Given the description of an element on the screen output the (x, y) to click on. 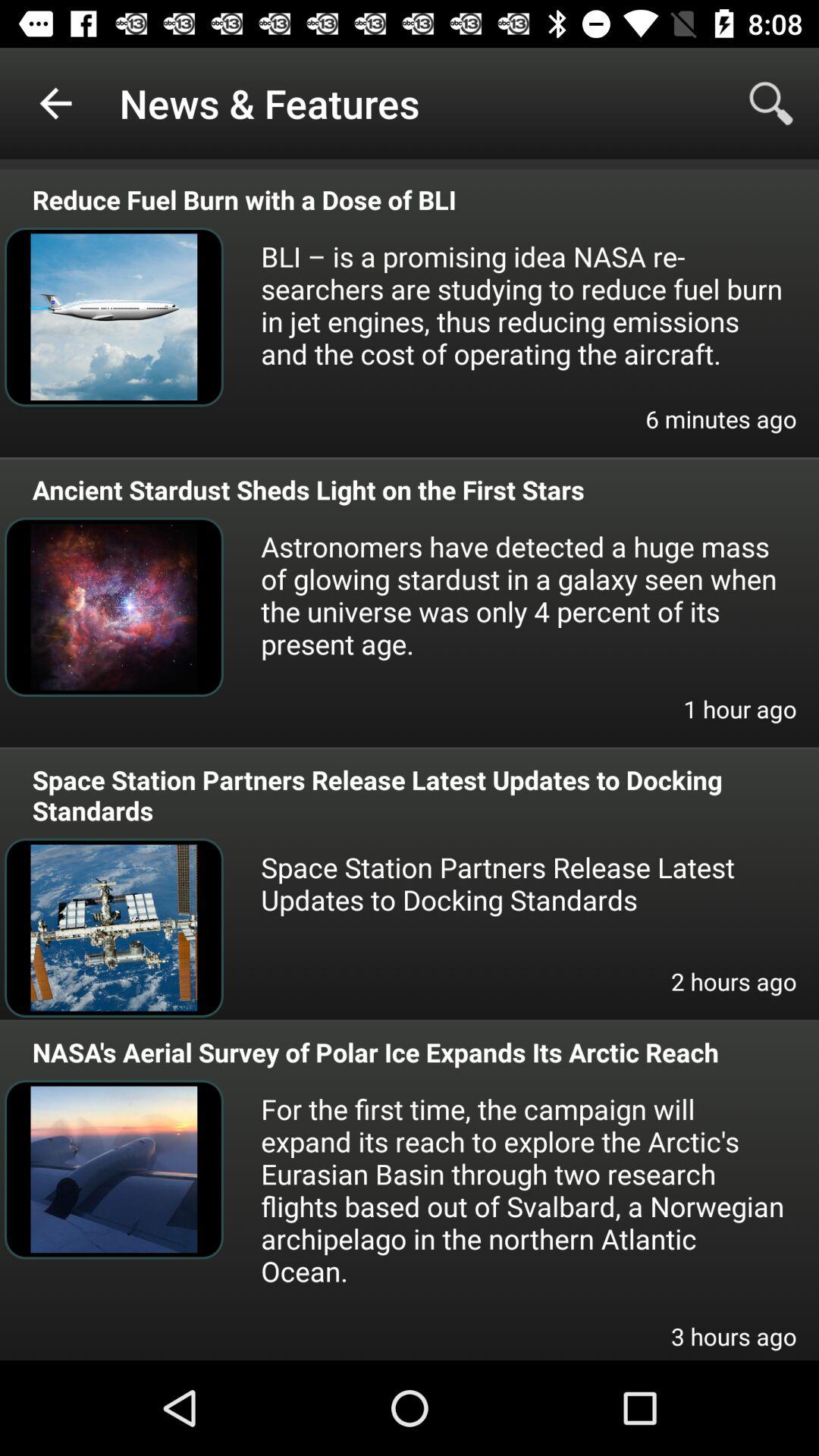
select the icon above the reduce fuel burn icon (55, 103)
